Given the description of an element on the screen output the (x, y) to click on. 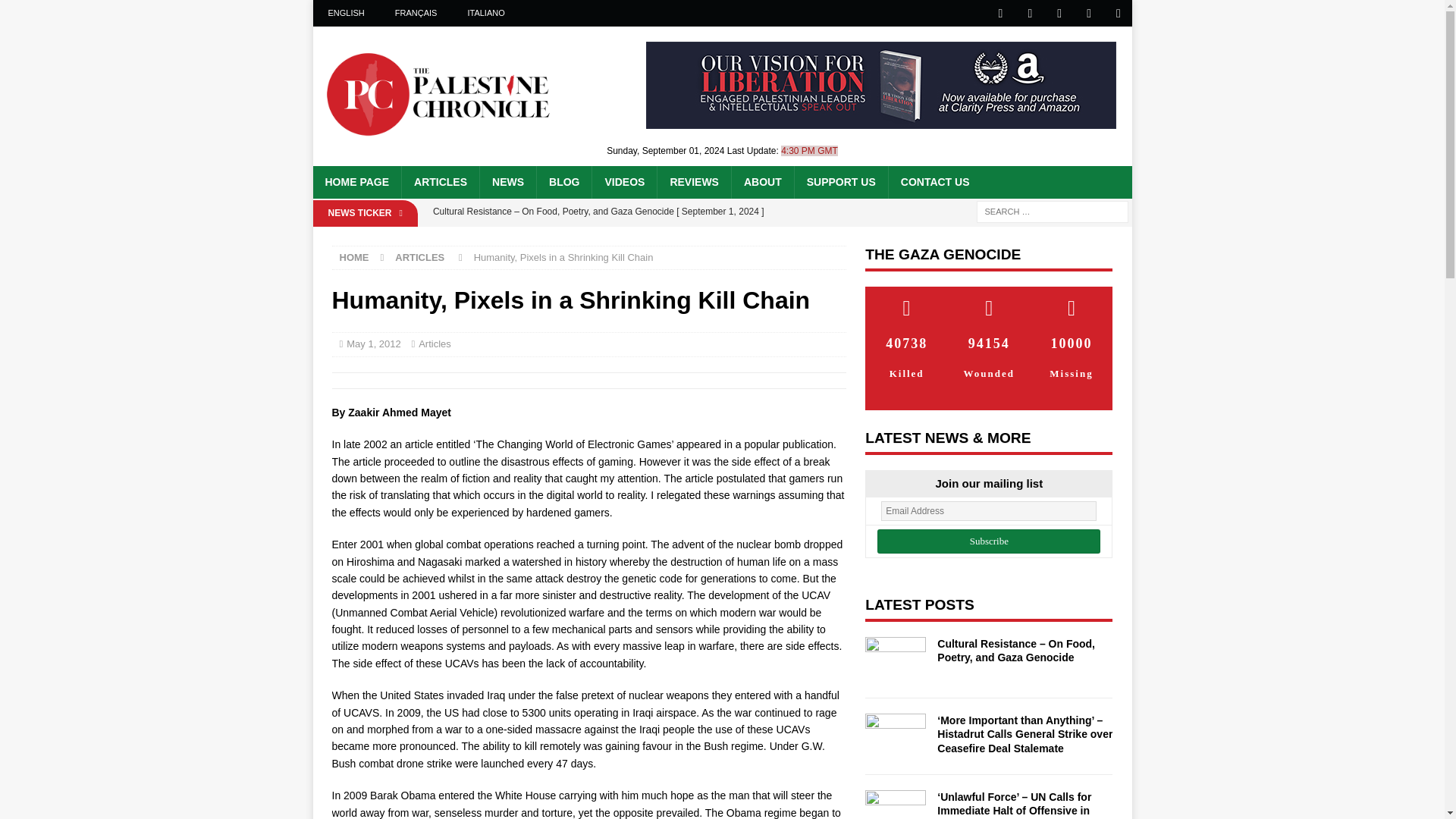
ARTICLES (419, 256)
Articles (435, 343)
NEWS (507, 182)
ITALIANO (485, 13)
REVIEWS (693, 182)
Search (56, 11)
ARTICLES (440, 182)
ABOUT (761, 182)
SUPPORT US (840, 182)
